Given the description of an element on the screen output the (x, y) to click on. 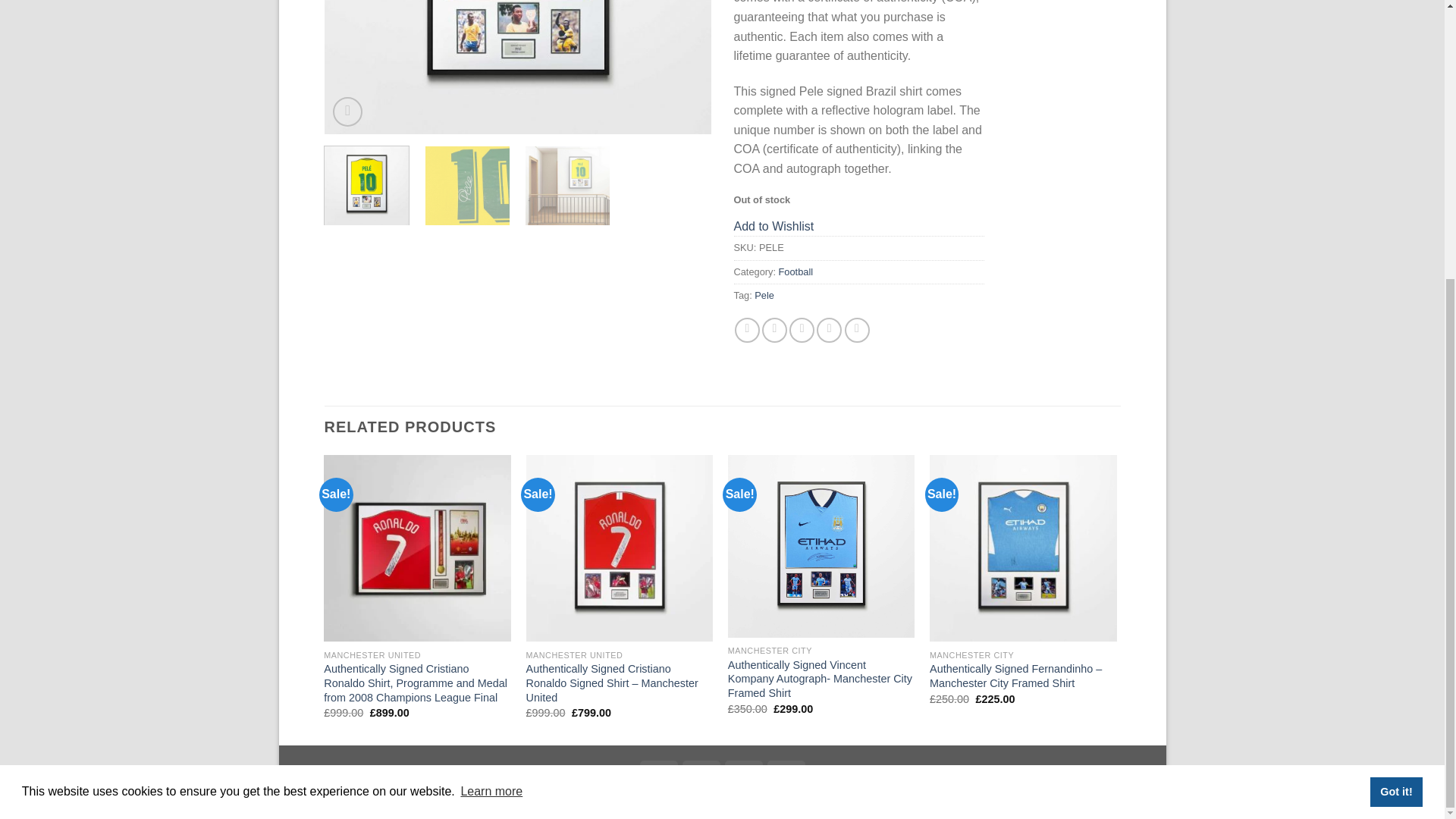
Pele (764, 295)
Learn more (491, 376)
Add to Wishlist (773, 226)
Football (795, 271)
authentically-signed-pele-signed-brazil-shirt (517, 70)
